Given the description of an element on the screen output the (x, y) to click on. 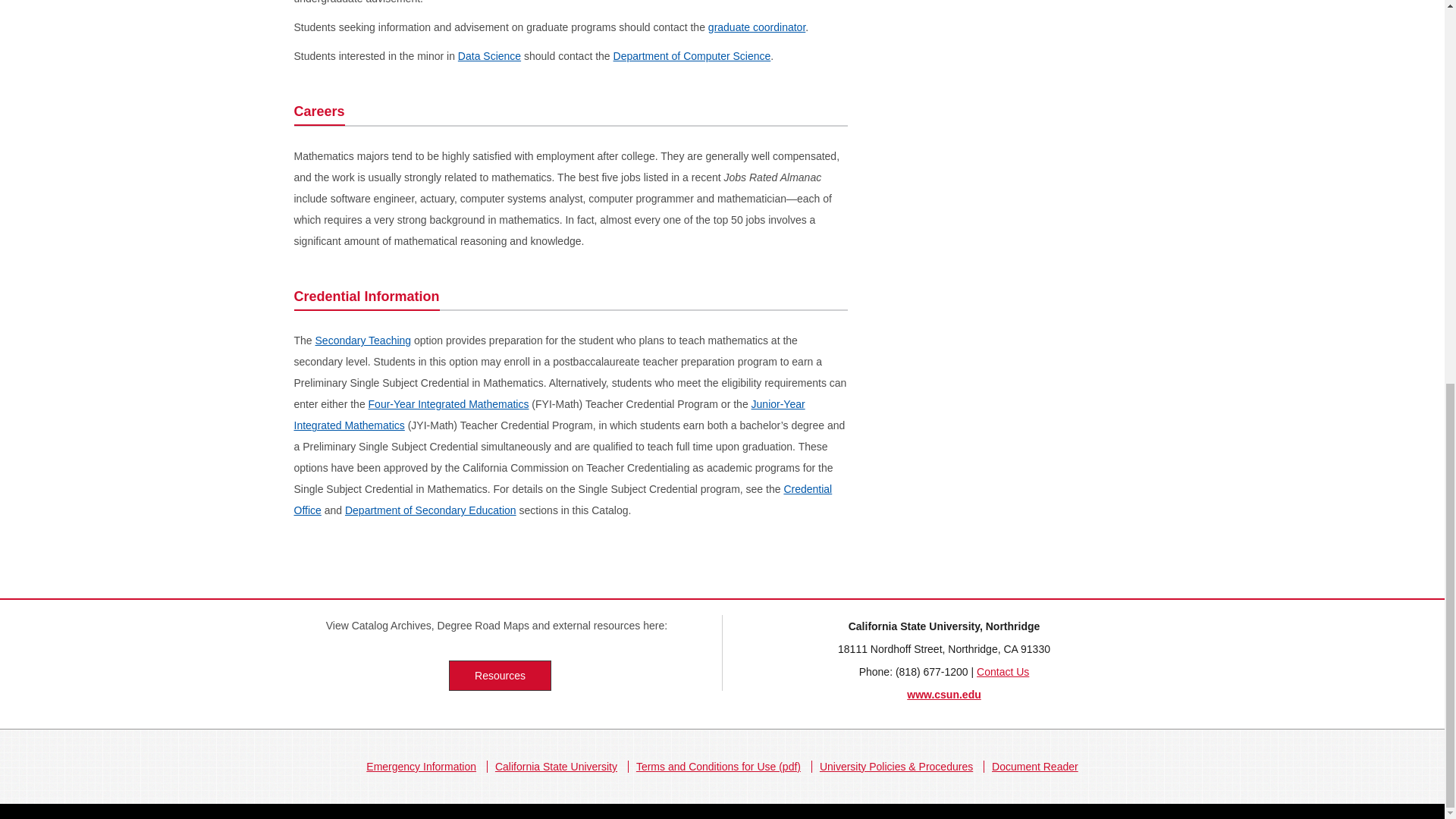
www.csun.edu (944, 694)
Junior-Year Integrated Mathematics (549, 414)
Data Science (489, 55)
Credential Office (563, 499)
Four-Year Integrated Mathematics (448, 404)
Secondary Teaching (363, 340)
Department of Secondary Education (430, 510)
graduate coordinator (756, 27)
Contact Us (1002, 671)
Department of Computer Science (691, 55)
Resources (499, 675)
Download a pdf reader here (1035, 766)
